Given the description of an element on the screen output the (x, y) to click on. 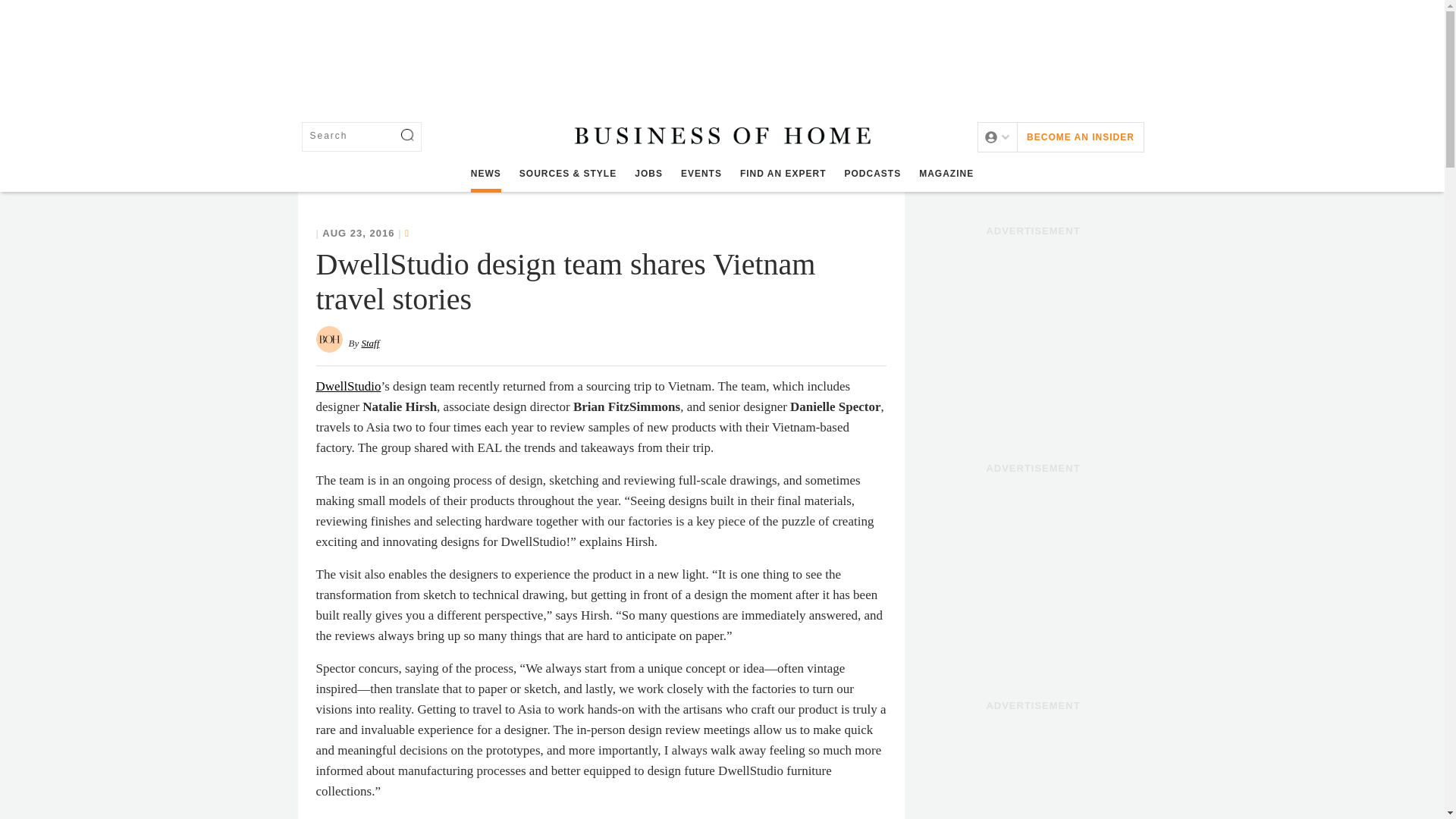
3rd party ad content (1032, 575)
3rd party ad content (1032, 768)
3rd party ad content (1032, 338)
NEWS (485, 173)
3rd party ad content (721, 50)
